Given the description of an element on the screen output the (x, y) to click on. 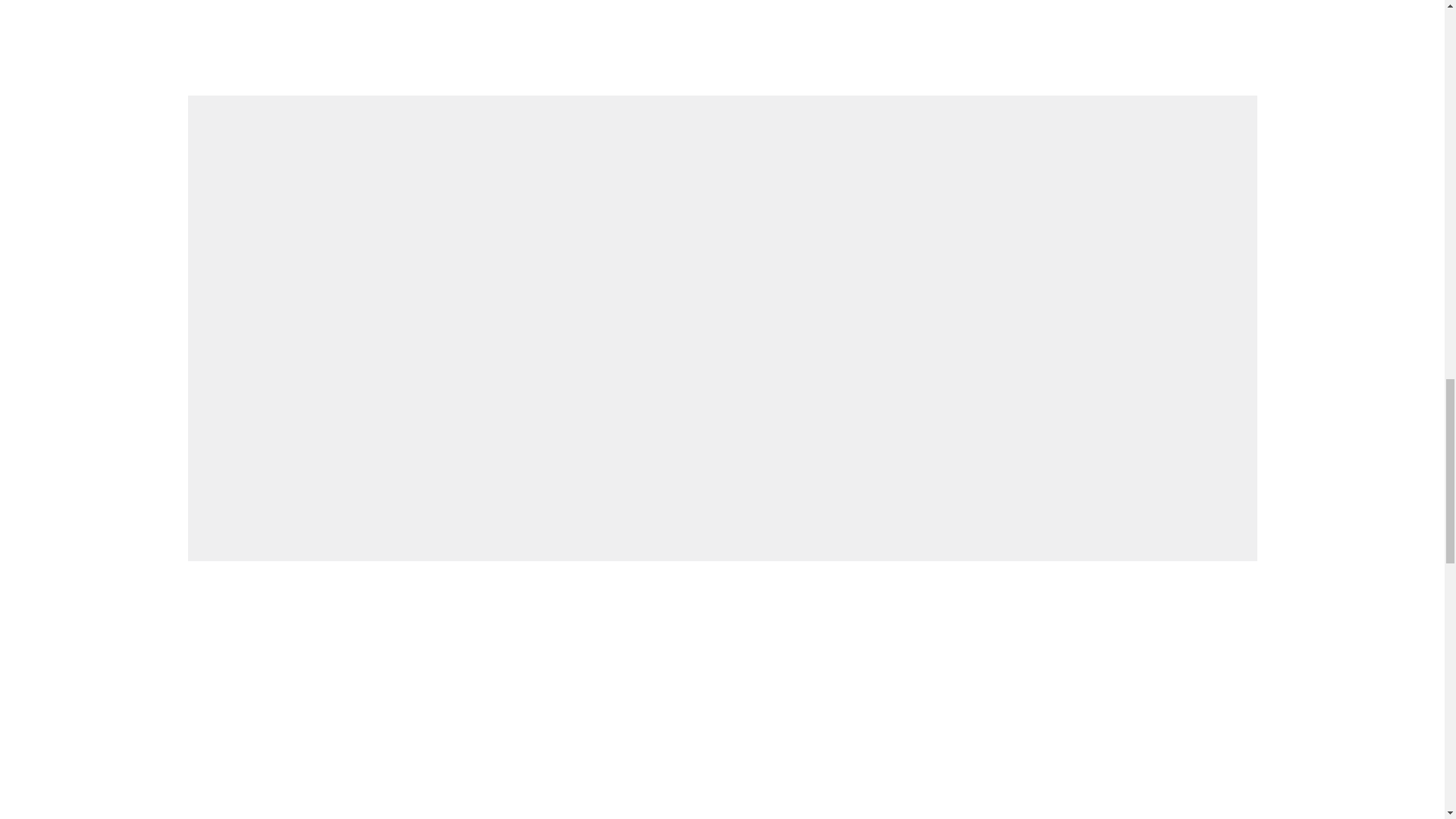
Submit (1235, 355)
